Given the description of an element on the screen output the (x, y) to click on. 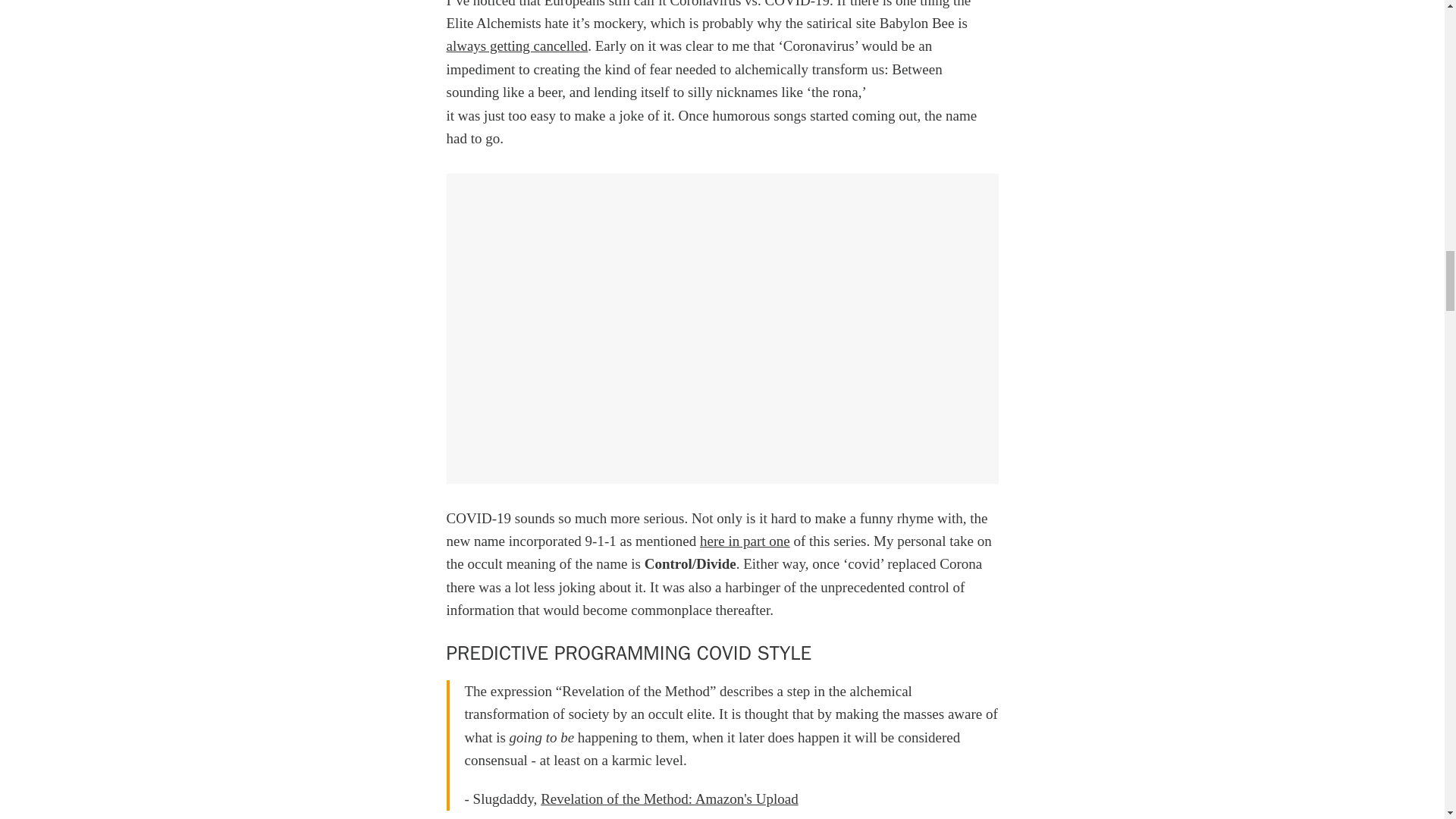
always getting cancelled (516, 45)
Revelation of the Method: Amazon's Upload (668, 798)
here in part one (745, 540)
